Given the description of an element on the screen output the (x, y) to click on. 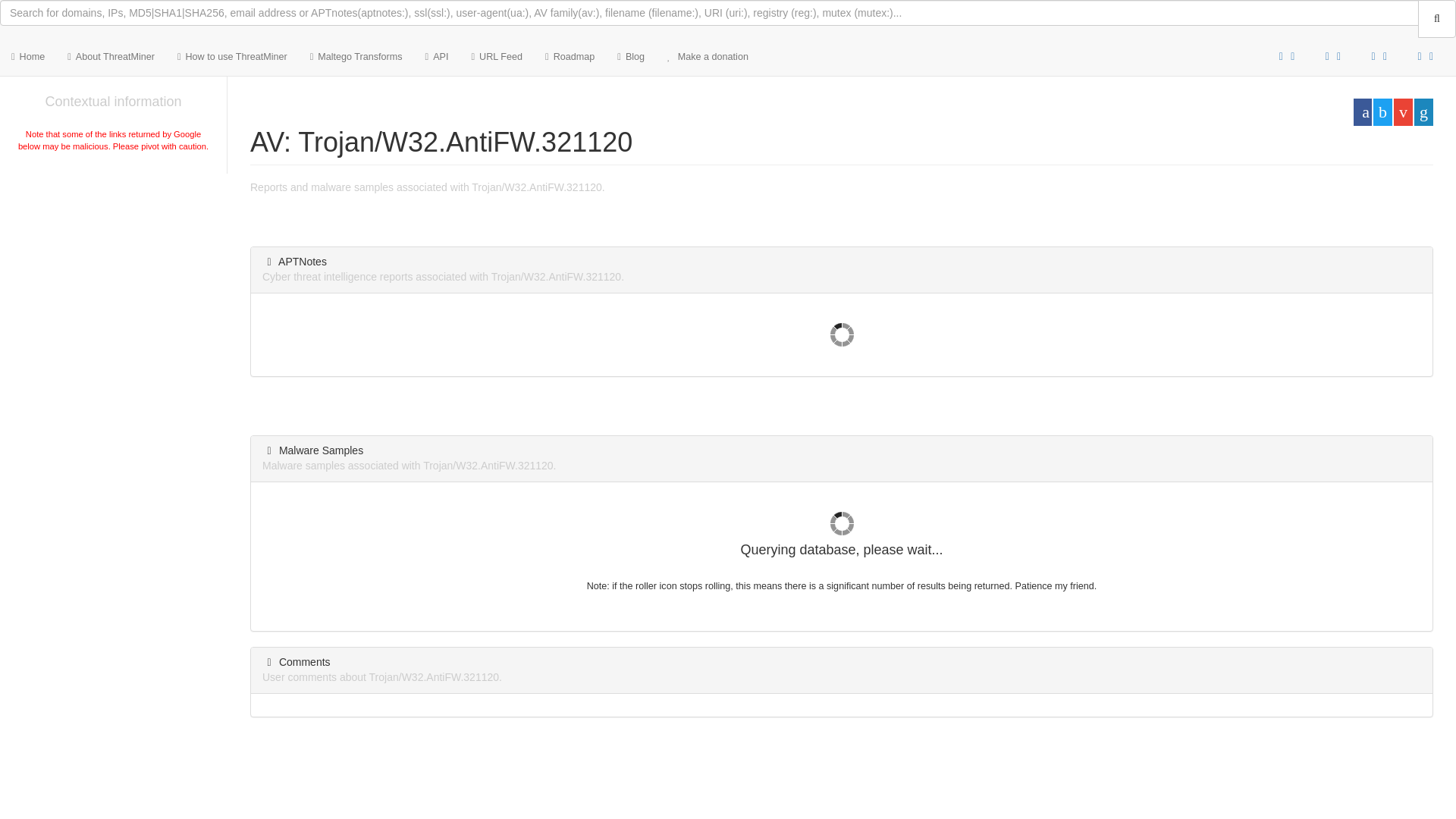
How to use ThreatMiner (231, 56)
URL Feed (497, 56)
API (436, 56)
About ThreatMiner (110, 56)
Blog (630, 56)
Home (28, 56)
Make a donation (708, 56)
Maltego Transforms (355, 56)
Roadmap (569, 56)
